Given the description of an element on the screen output the (x, y) to click on. 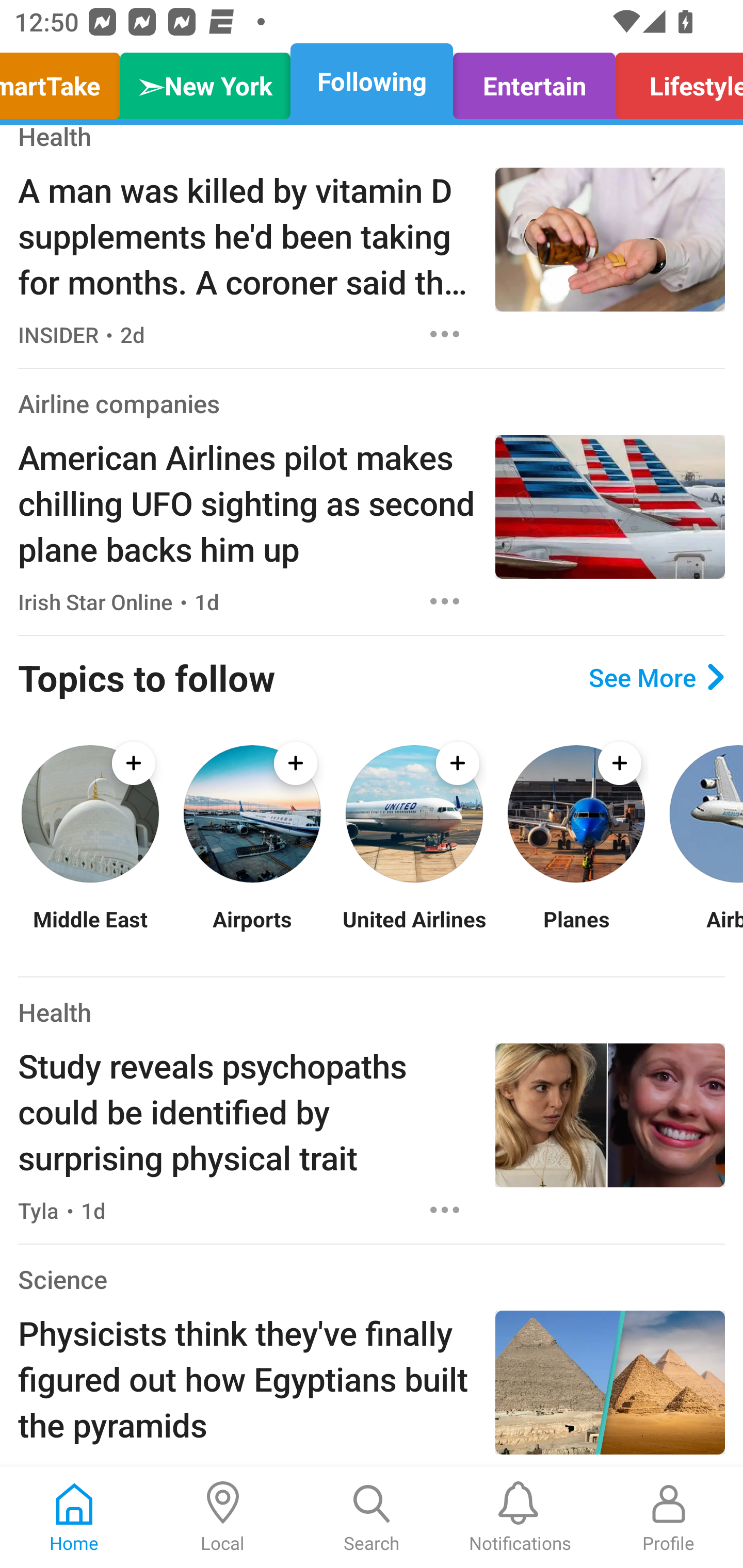
➣New York (205, 81)
Following (371, 81)
Entertain (534, 81)
Health (54, 139)
Options (444, 333)
Airline companies (118, 402)
Options (444, 601)
See More (656, 677)
Middle East (89, 931)
Airports (251, 931)
United Airlines (413, 931)
Planes (575, 931)
Health (54, 1011)
Options (444, 1210)
Science (61, 1279)
Local (222, 1517)
Search (371, 1517)
Notifications (519, 1517)
Profile (668, 1517)
